Given the description of an element on the screen output the (x, y) to click on. 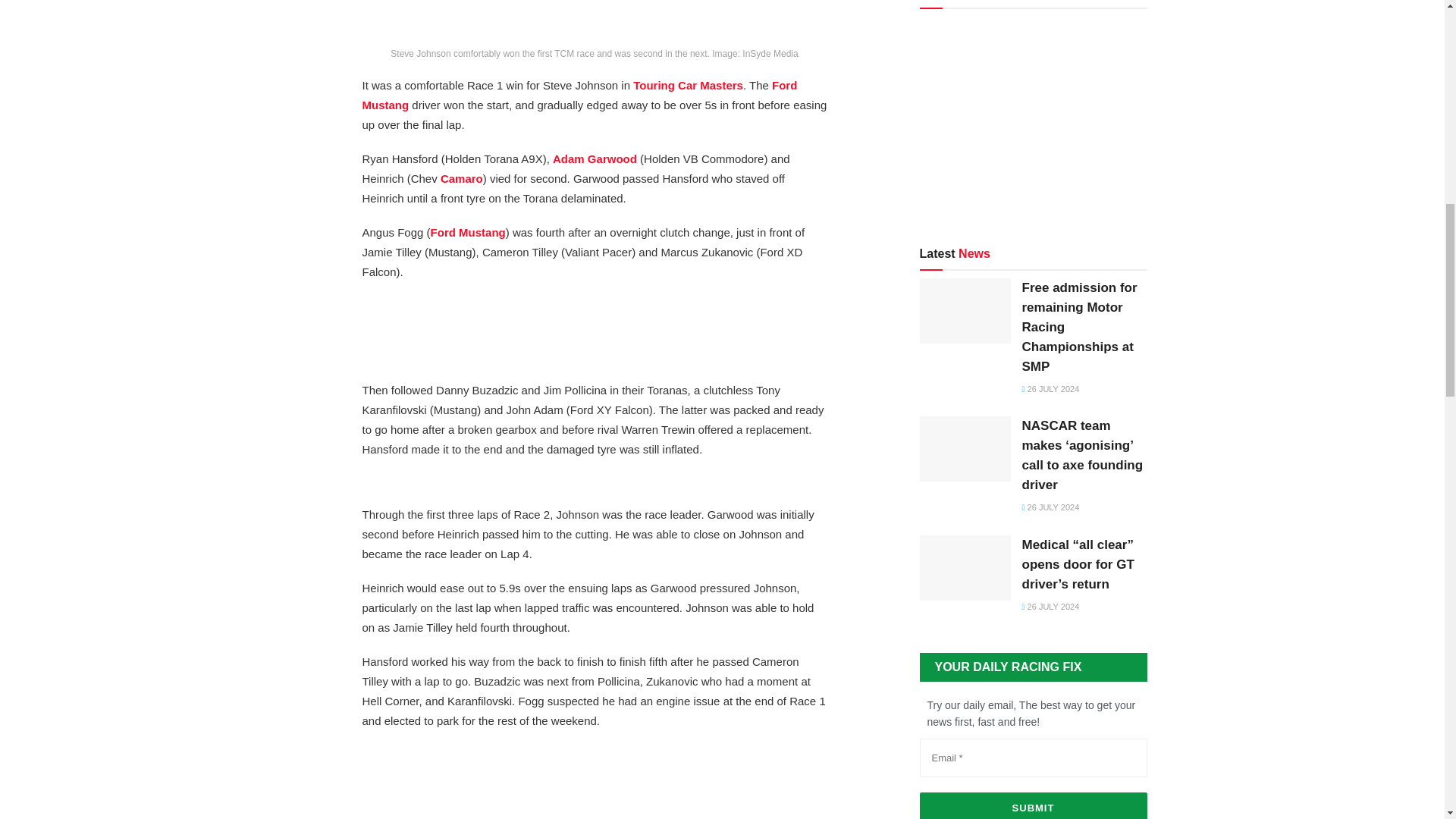
SUBMIT (1032, 805)
